Given the description of an element on the screen output the (x, y) to click on. 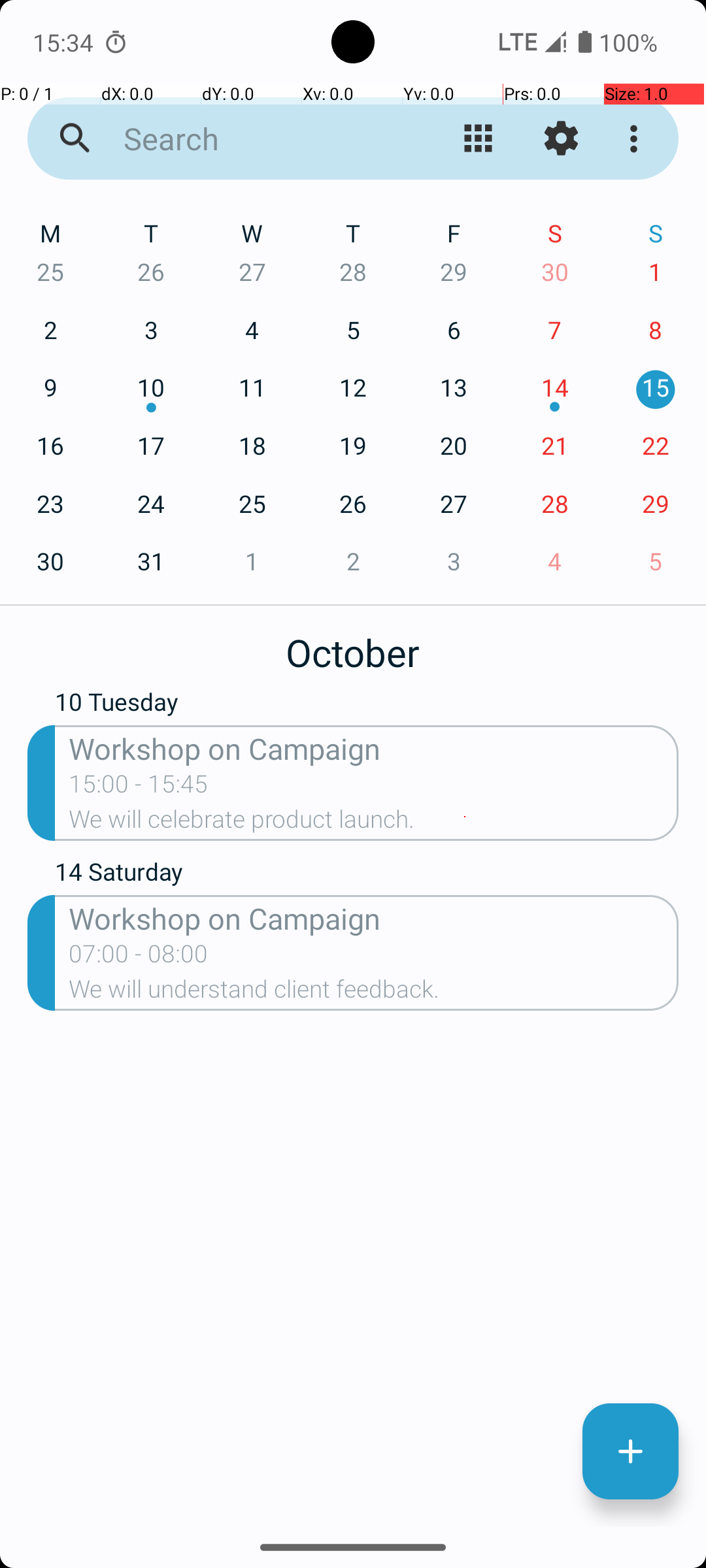
10 Tuesday Element type: android.widget.TextView (366, 704)
14 Saturday Element type: android.widget.TextView (366, 874)
15:00 - 15:45 Element type: android.widget.TextView (137, 787)
We will celebrate product launch. Element type: android.widget.TextView (373, 822)
07:00 - 08:00 Element type: android.widget.TextView (137, 957)
We will understand client feedback. Element type: android.widget.TextView (373, 992)
